Given the description of an element on the screen output the (x, y) to click on. 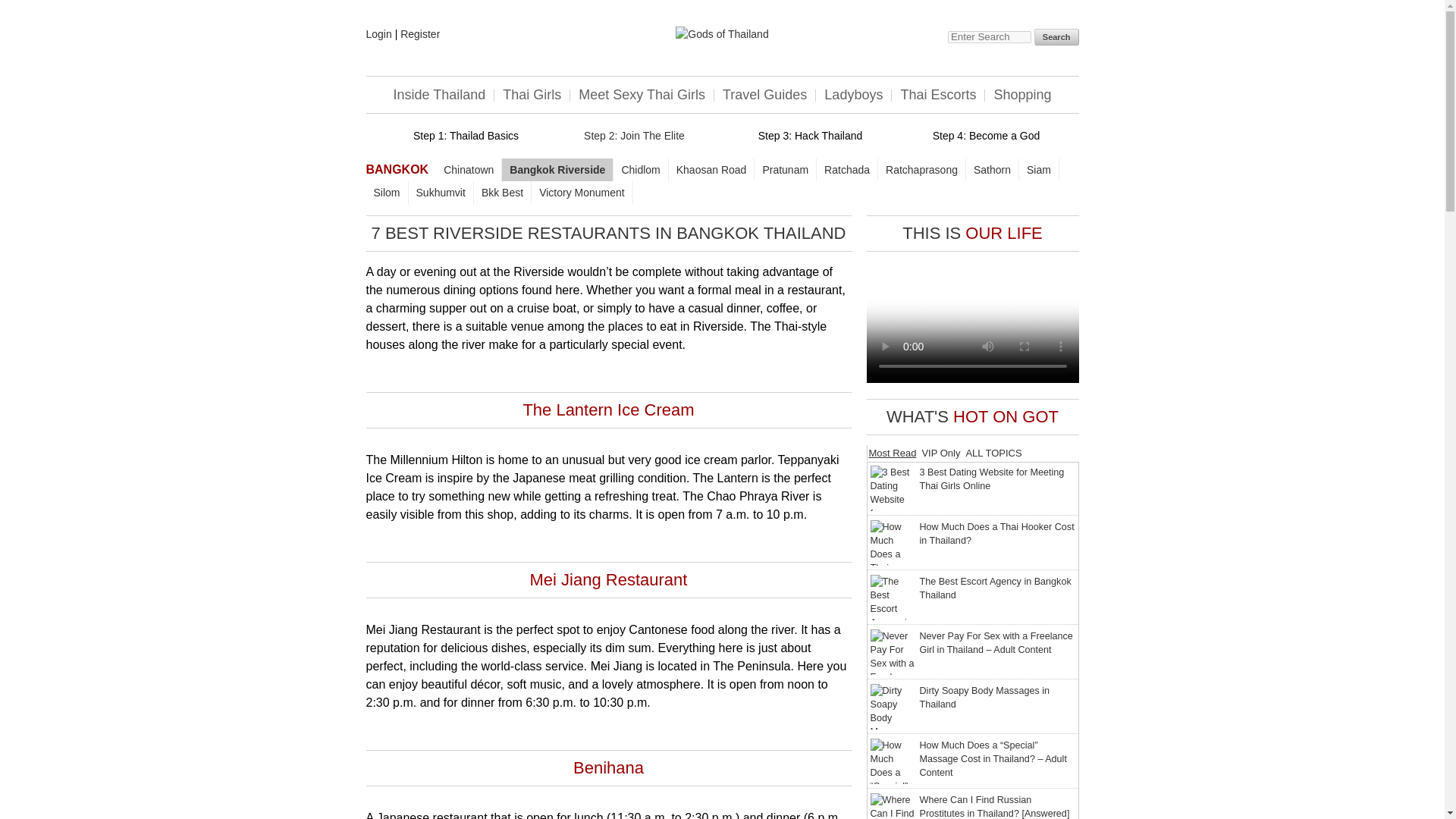
Meet Sexy Thai Girls (641, 94)
Thailand Travel Guides (763, 94)
Login (378, 33)
Search (1055, 36)
3 Best Dating Website for Meeting Thai Girls Online (892, 488)
Thai Girls (532, 94)
How Much Does a Thai Hooker Cost in Thailand? (892, 542)
Travel Guides (763, 94)
Register (419, 33)
Inside Thailand (439, 94)
